Given the description of an element on the screen output the (x, y) to click on. 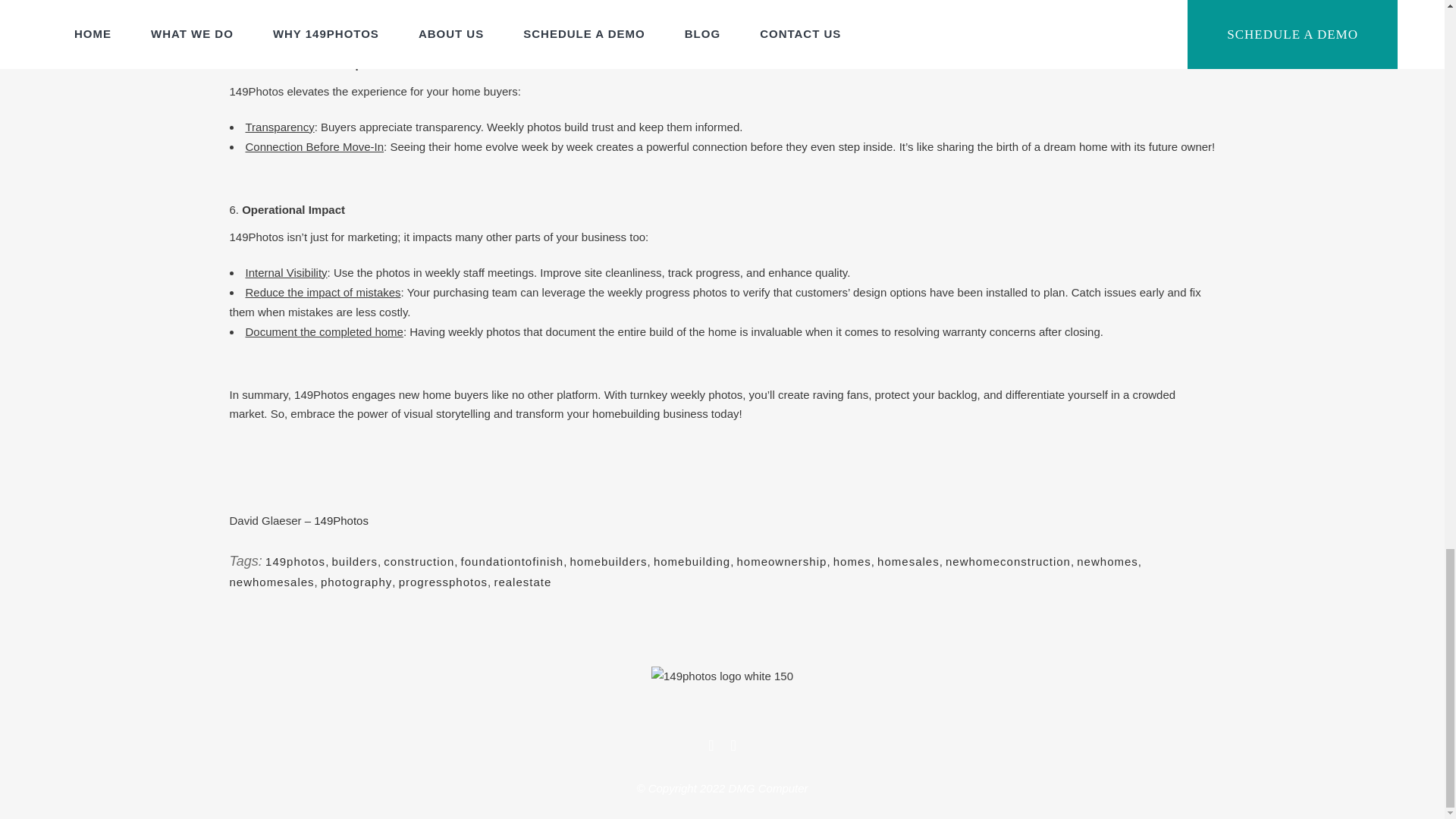
progressphotos (442, 581)
homebuilders (608, 561)
homeownership (781, 561)
newhomesales (271, 581)
foundationtofinish (512, 561)
builders (354, 561)
homebuilding (691, 561)
photography (355, 581)
homes (851, 561)
DMG Computer (768, 788)
